Given the description of an element on the screen output the (x, y) to click on. 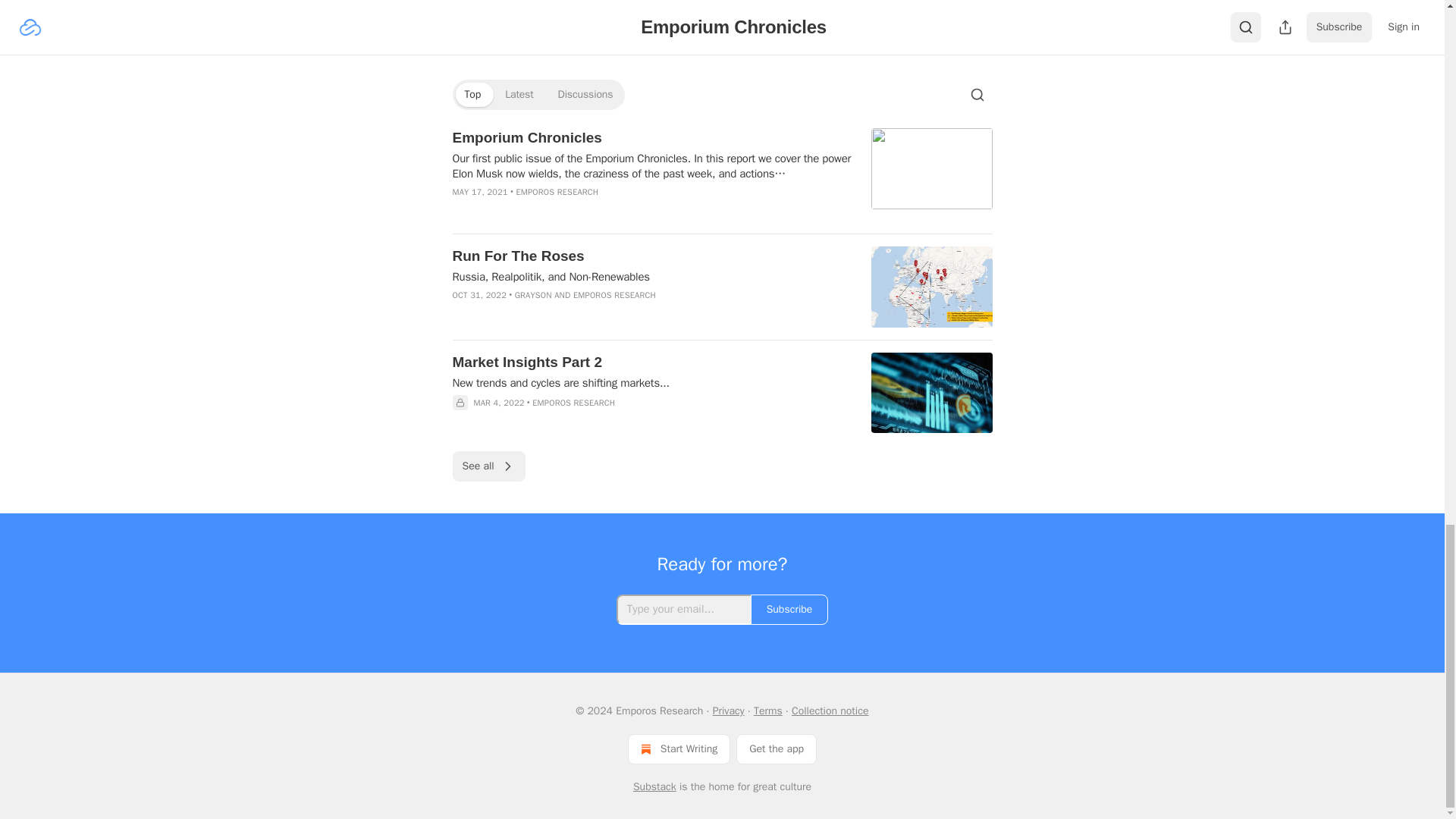
Emporium Chronicles (651, 137)
EMPOROS RESEARCH (556, 191)
Discussions (585, 94)
Latest (518, 94)
Top (471, 94)
